Given the description of an element on the screen output the (x, y) to click on. 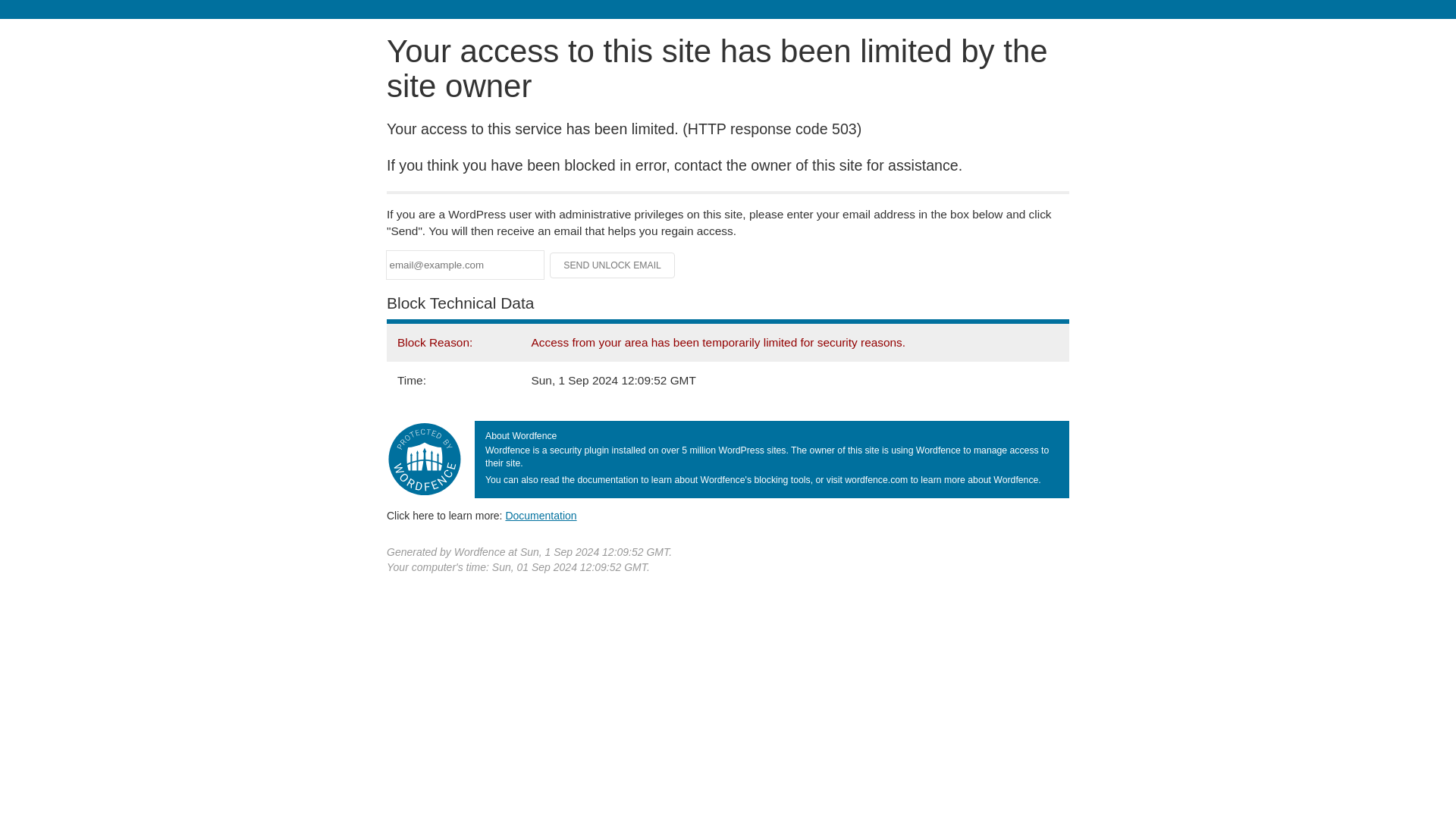
Send Unlock Email (612, 265)
Documentation (540, 515)
Send Unlock Email (612, 265)
